Given the description of an element on the screen output the (x, y) to click on. 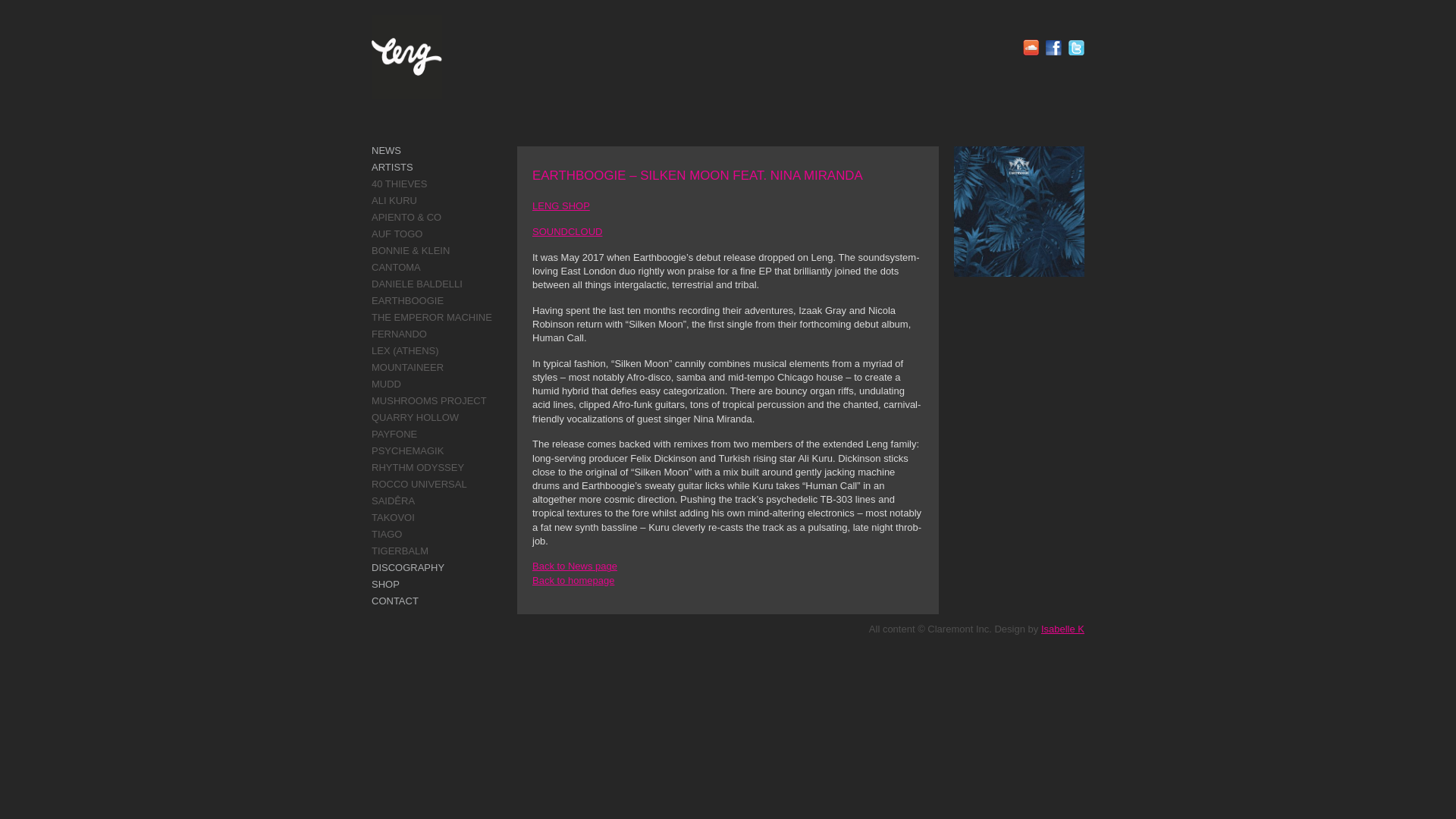
Follow us on Twitter (1076, 47)
ARTISTS (392, 166)
NEWS (386, 150)
News (574, 565)
LENG SHOP (560, 205)
40 THIEVES (398, 183)
Follow us on Facebook (1053, 47)
Leng on Soundcloud (1031, 47)
Isabelle K Design (1062, 628)
Home (573, 580)
SOUNDCLOUD (567, 231)
Back to News page (574, 565)
Back to homepage (573, 580)
